Given the description of an element on the screen output the (x, y) to click on. 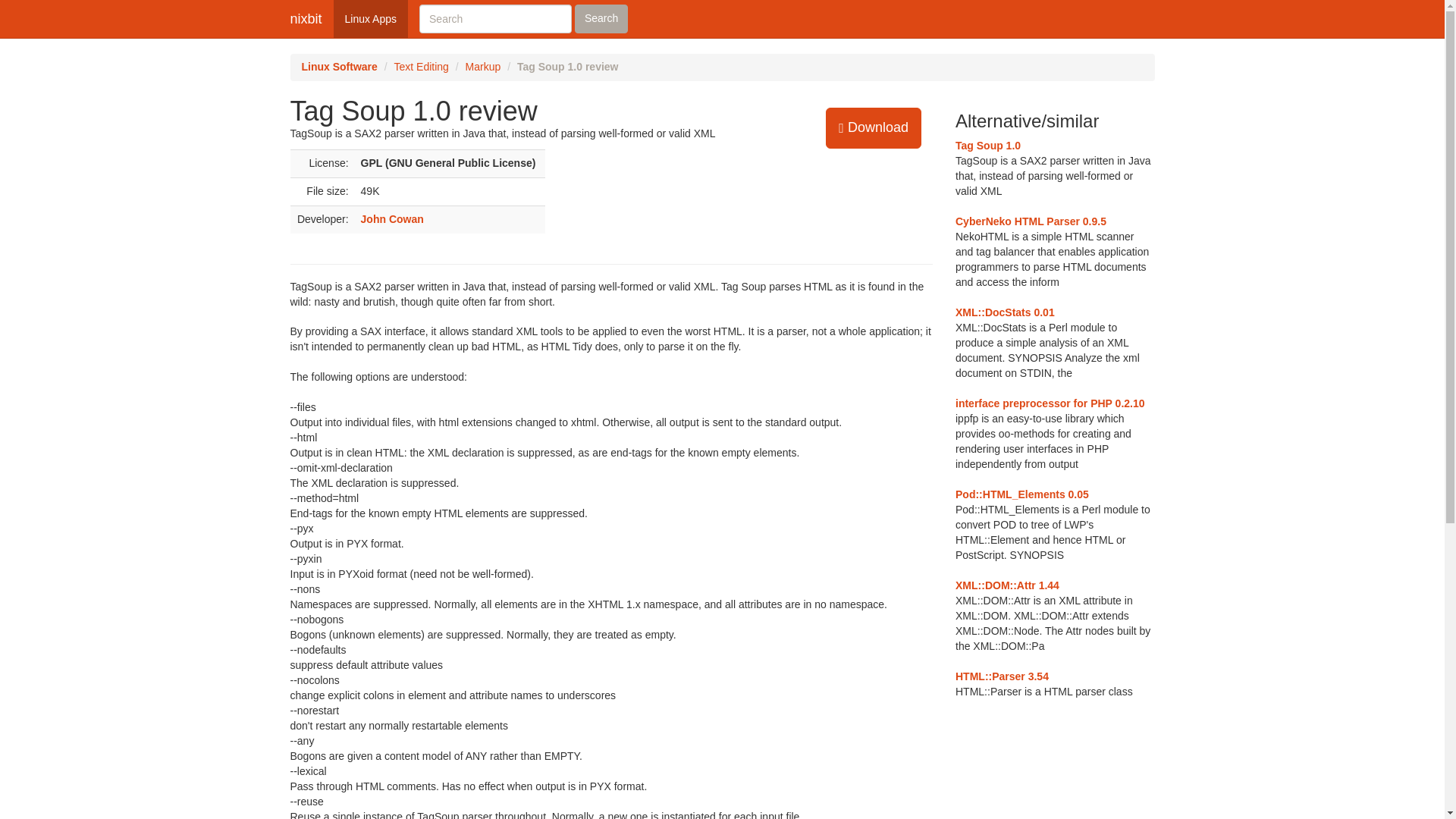
Search (601, 18)
Download (873, 127)
XML::DocStats 0.01 review (1004, 312)
XML::DocStats 0.01 (1004, 312)
CyberNeko HTML Parser 0.9.5 (1030, 221)
John Cowan (392, 218)
Linux Software (339, 66)
nixbit (306, 18)
XML::DOM::Attr 1.44 review (1007, 585)
Tag Soup 1.0 (987, 145)
